Given the description of an element on the screen output the (x, y) to click on. 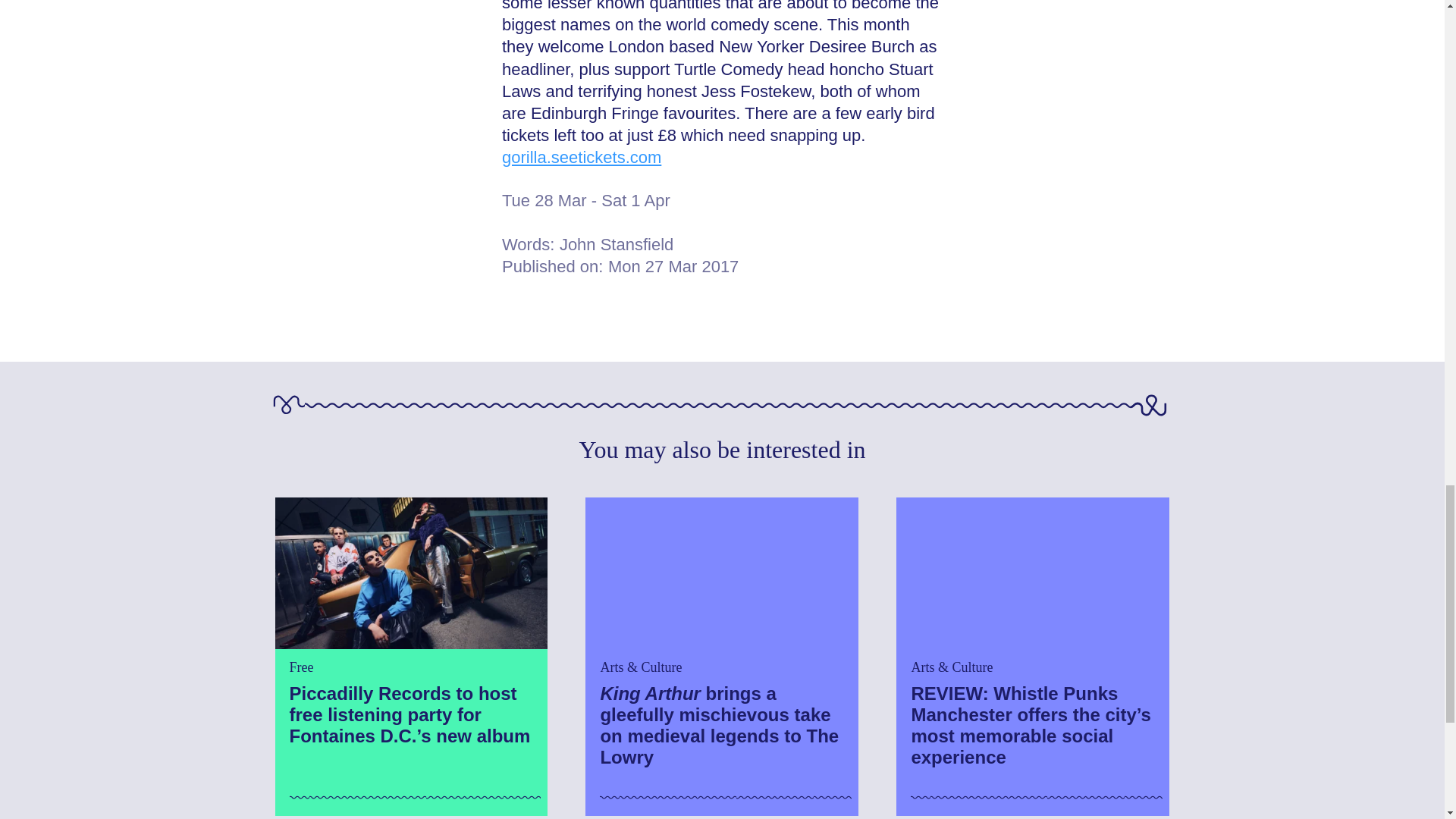
gorilla.seetickets.com (581, 157)
